Given the description of an element on the screen output the (x, y) to click on. 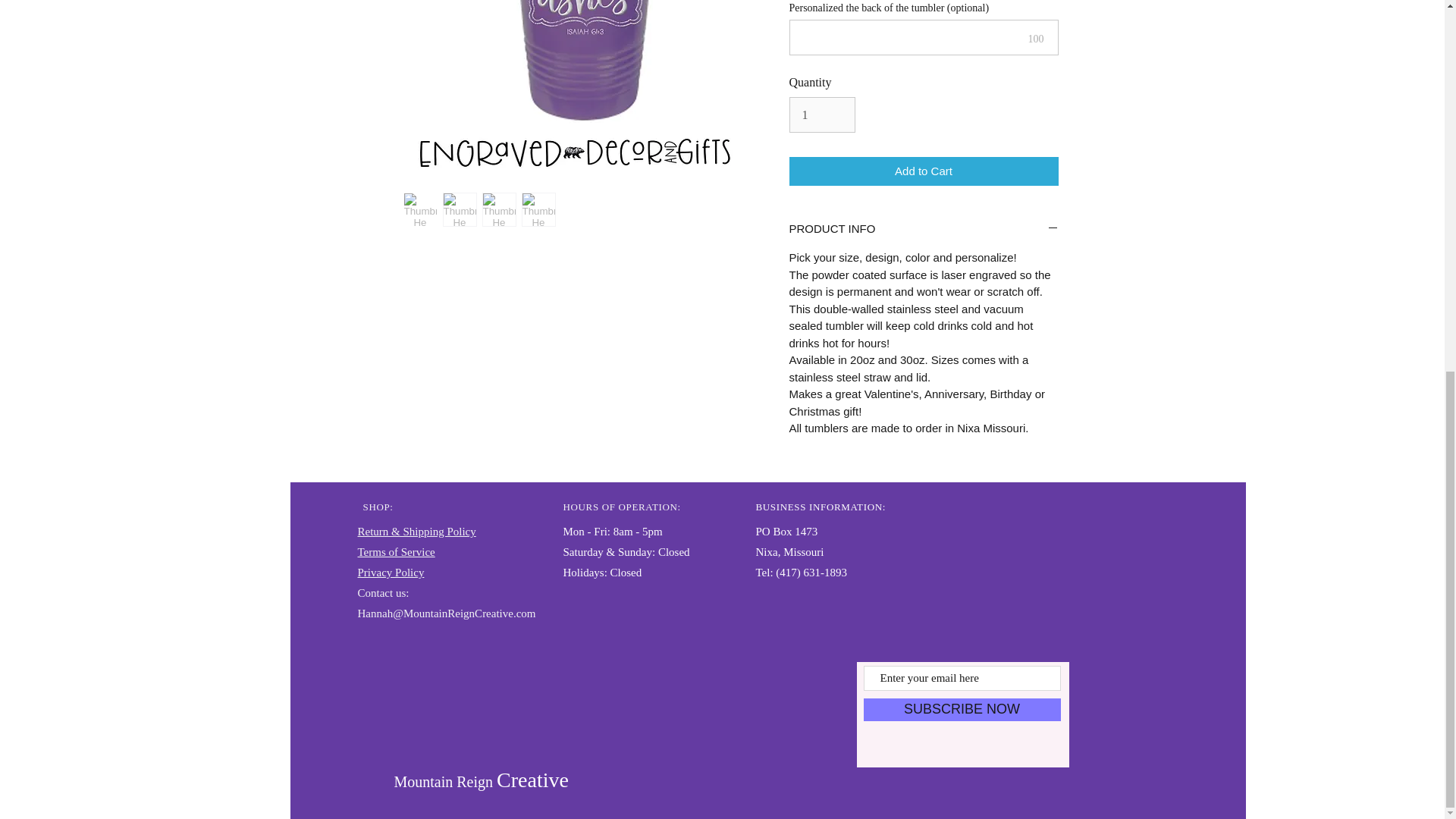
1 (821, 114)
Terms of Service (396, 551)
PRODUCT INFO (923, 228)
Add to Cart (923, 171)
